Given the description of an element on the screen output the (x, y) to click on. 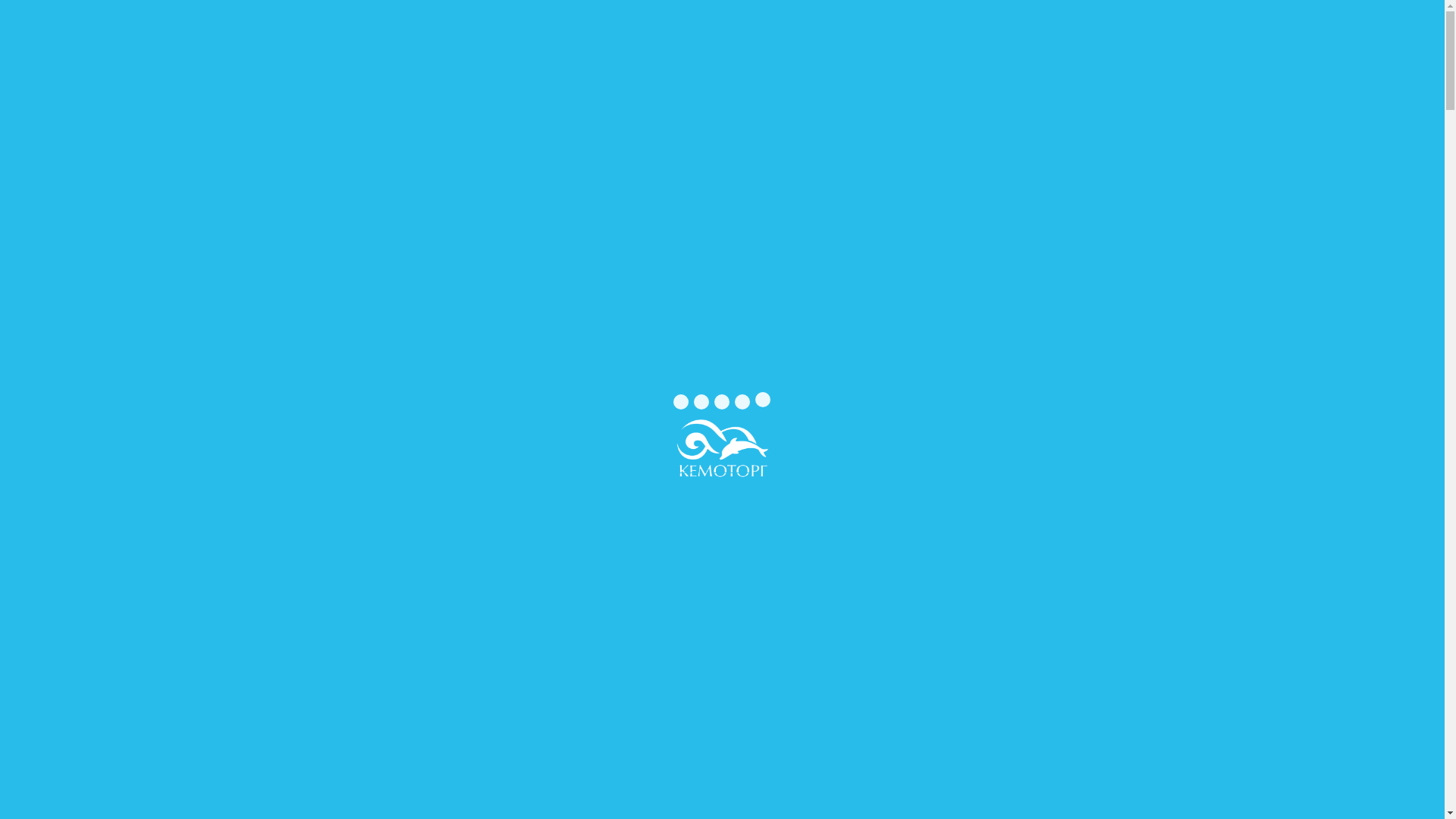
kemotorg@gmail.com Element type: text (1049, 81)
